Given the description of an element on the screen output the (x, y) to click on. 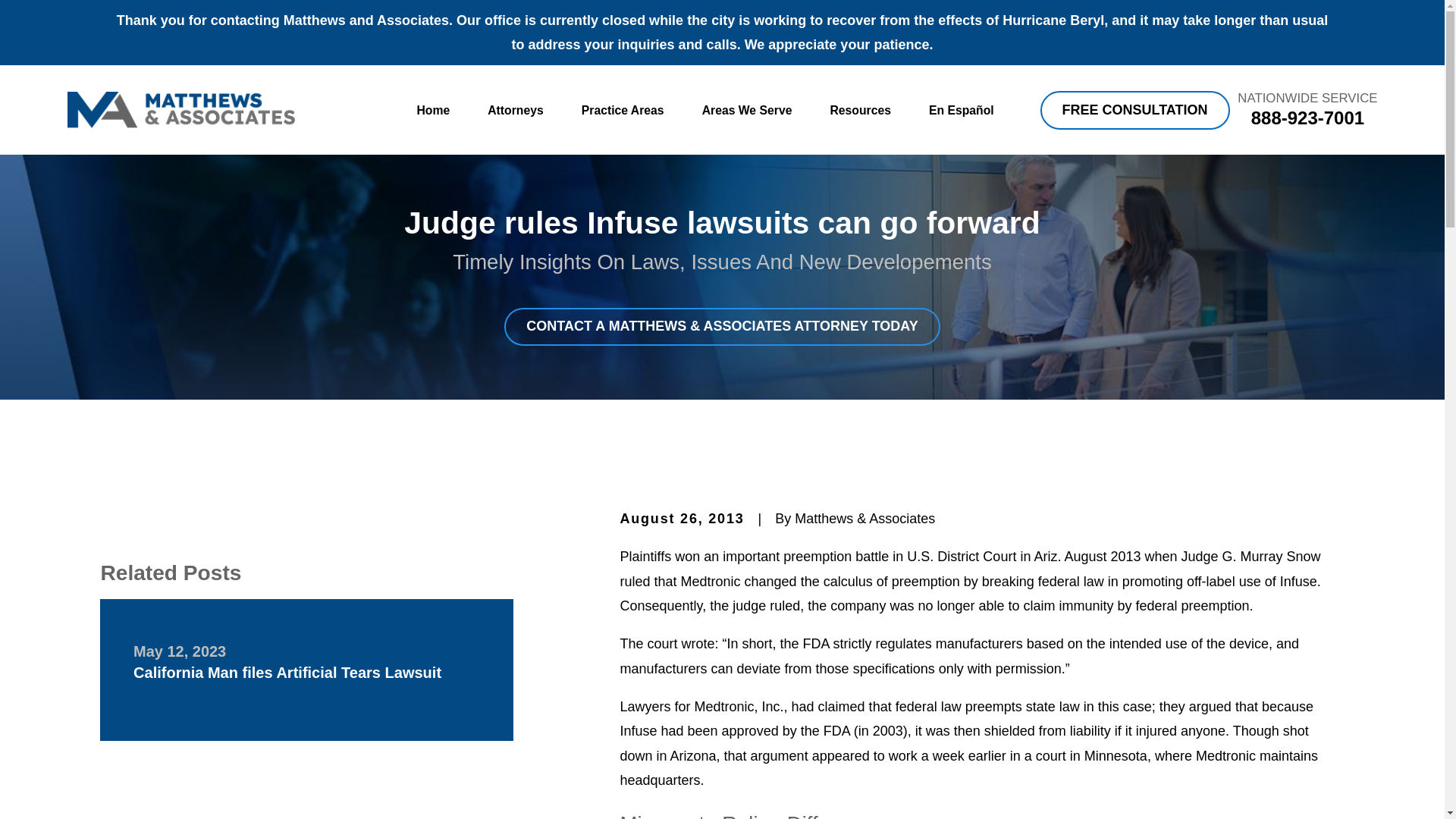
Attorneys (515, 110)
Home (180, 109)
Practice Areas (621, 110)
